Given the description of an element on the screen output the (x, y) to click on. 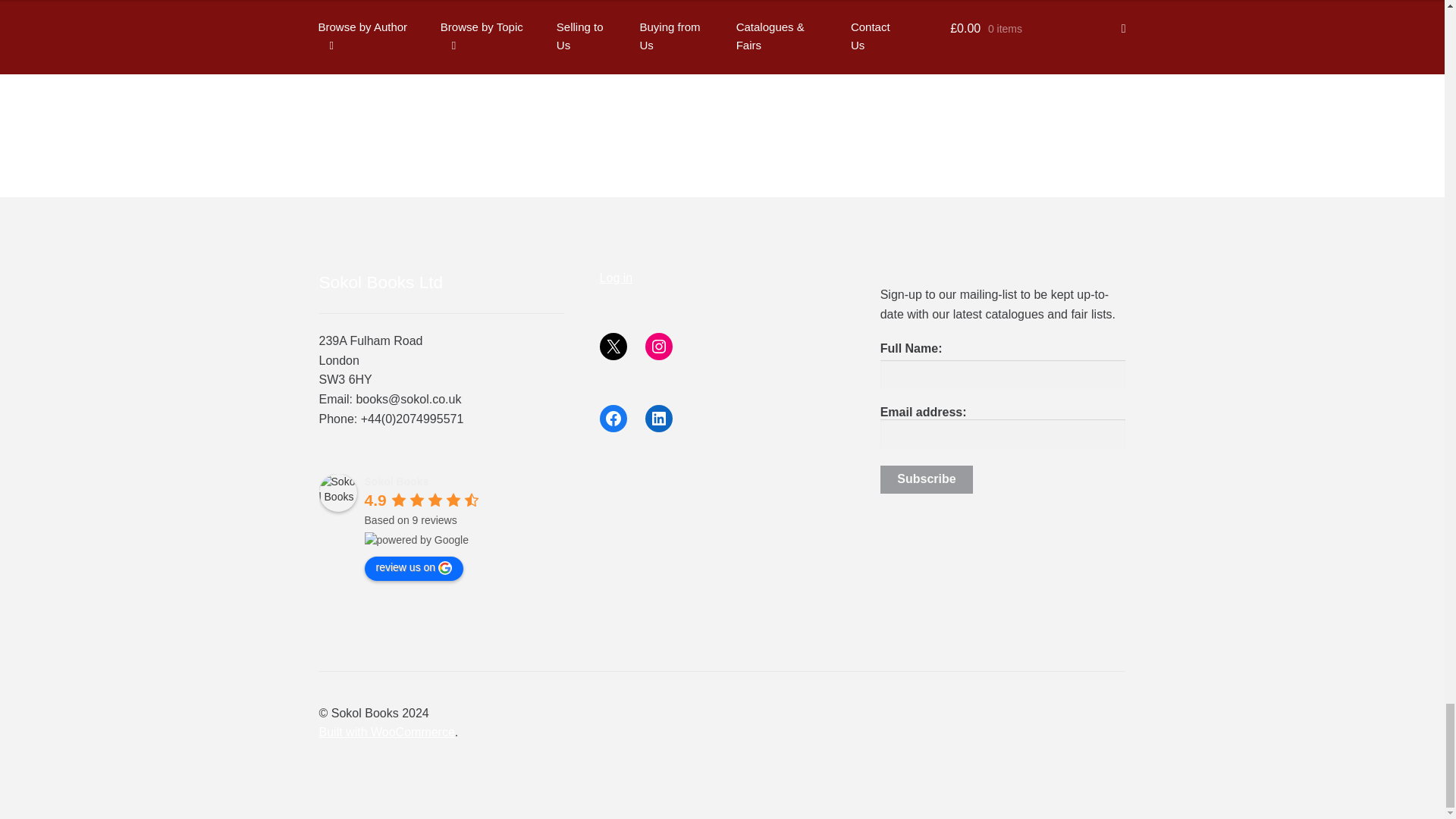
Subscribe (927, 480)
WooCommerce - The Best eCommerce Platform for WordPress (386, 731)
Sokol Books (337, 492)
powered by Google (416, 539)
